Given the description of an element on the screen output the (x, y) to click on. 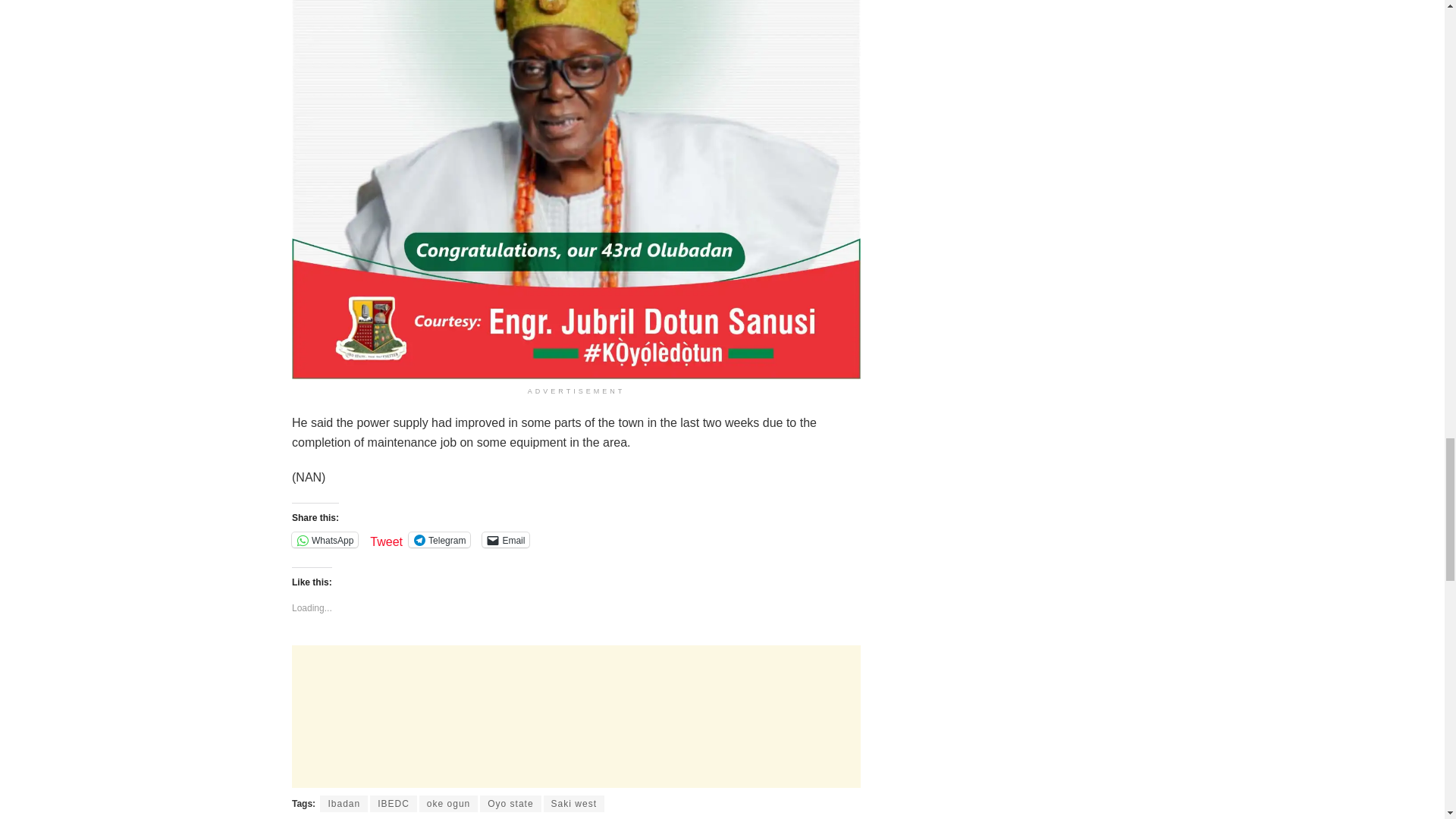
Click to share on Telegram (439, 539)
Click to share on WhatsApp (325, 539)
Click to email a link to a friend (505, 539)
